Given the description of an element on the screen output the (x, y) to click on. 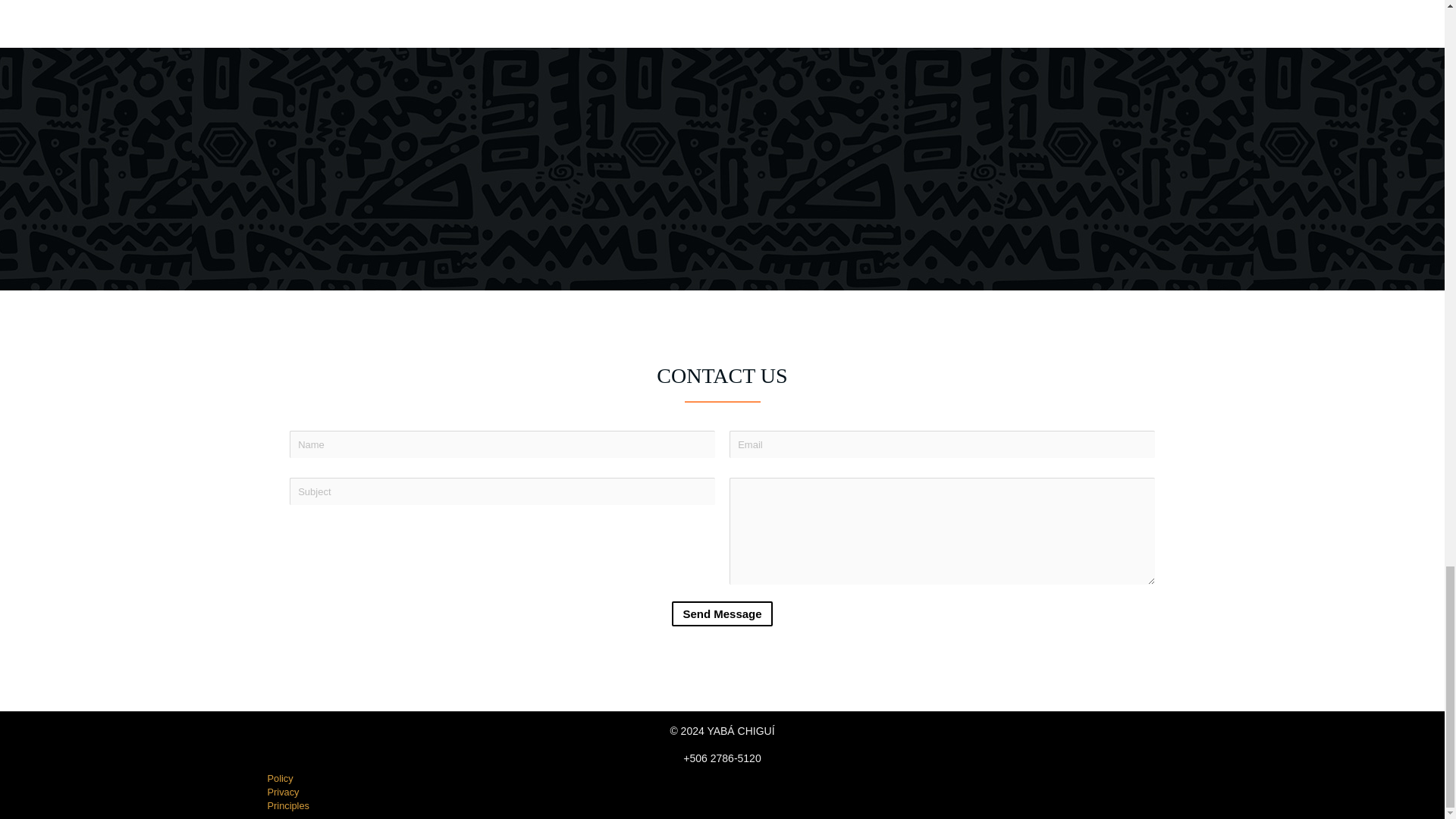
Subject (501, 491)
Name (501, 443)
Send message (721, 613)
Email (941, 443)
